Given the description of an element on the screen output the (x, y) to click on. 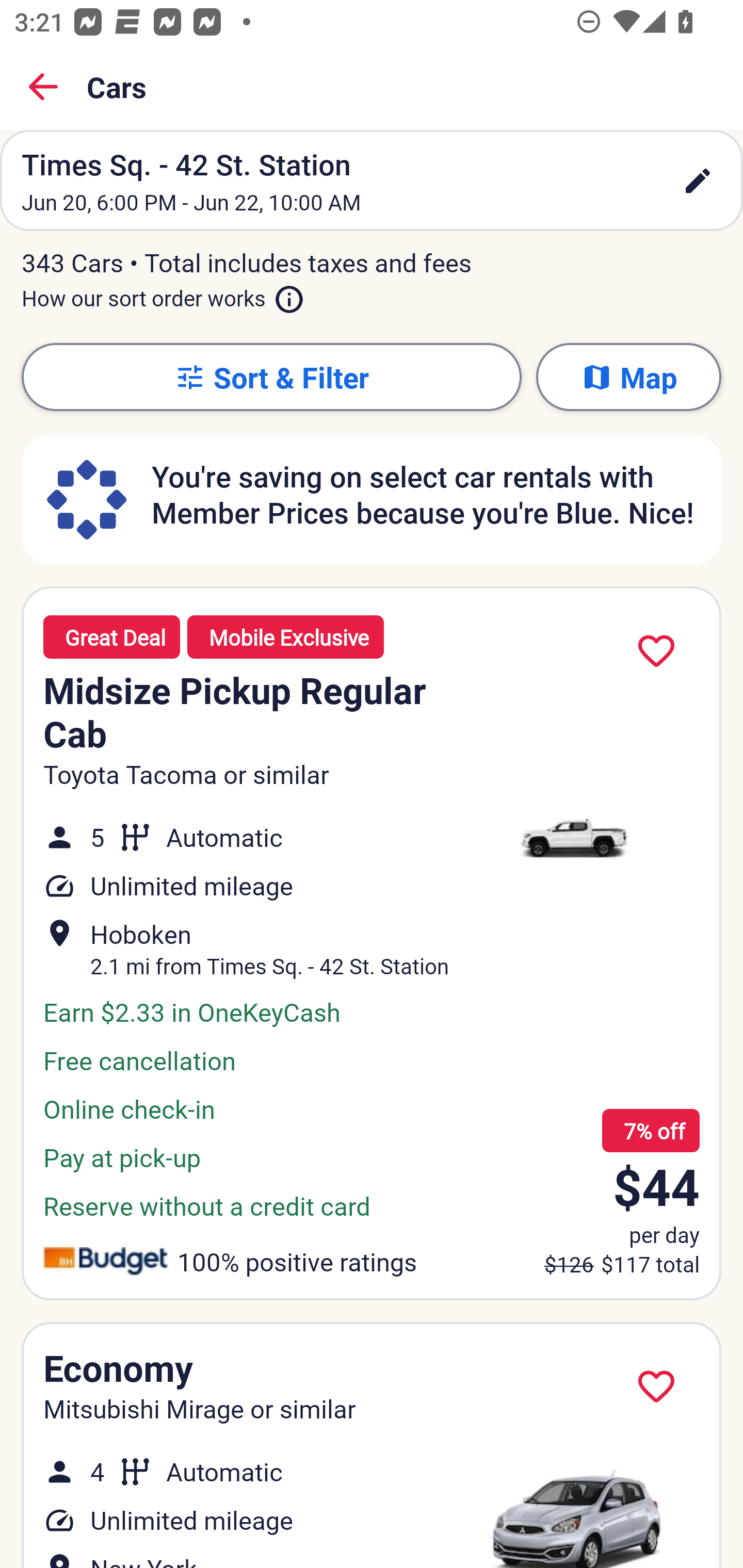
Back (43, 86)
edit (697, 180)
How our sort order works (163, 294)
Sort & Filter (271, 376)
Map (628, 376)
